Given the description of an element on the screen output the (x, y) to click on. 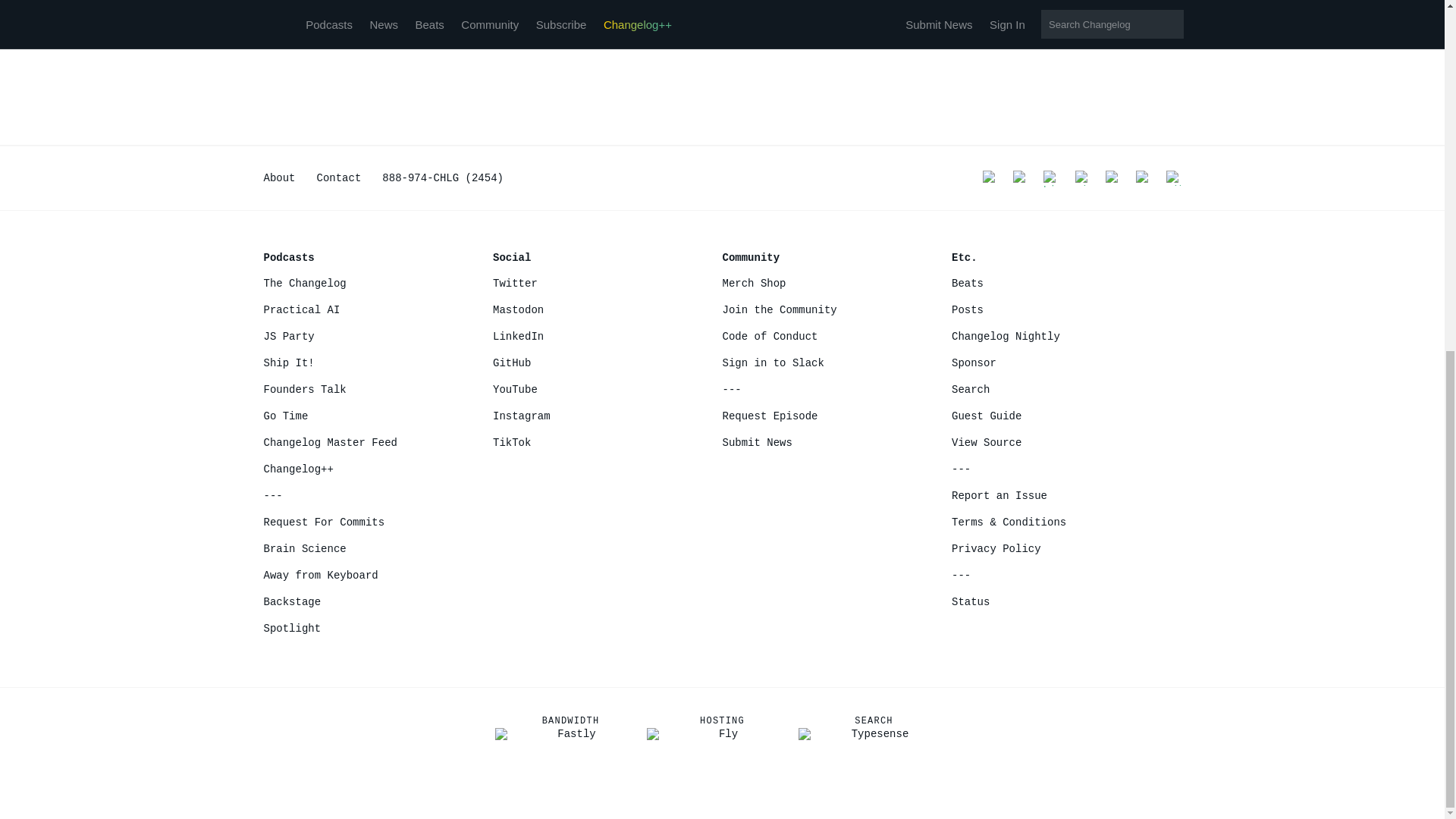
Contact (339, 177)
Changelog on Twitter (989, 177)
About (279, 177)
